Given the description of an element on the screen output the (x, y) to click on. 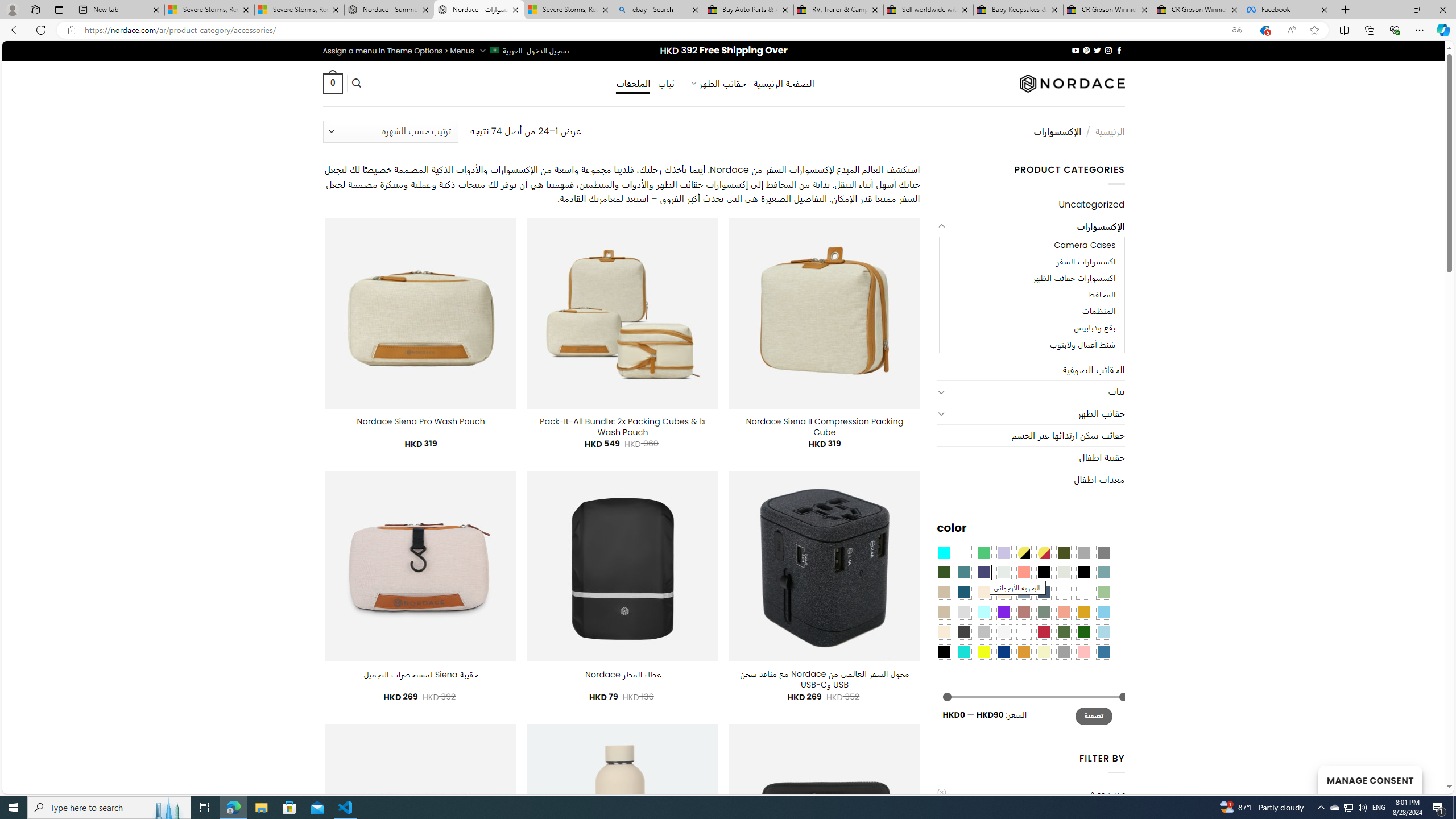
Mint (983, 611)
Yellow-Red (1043, 551)
Yellow-Black (1023, 551)
Light Green (1103, 591)
